Given the description of an element on the screen output the (x, y) to click on. 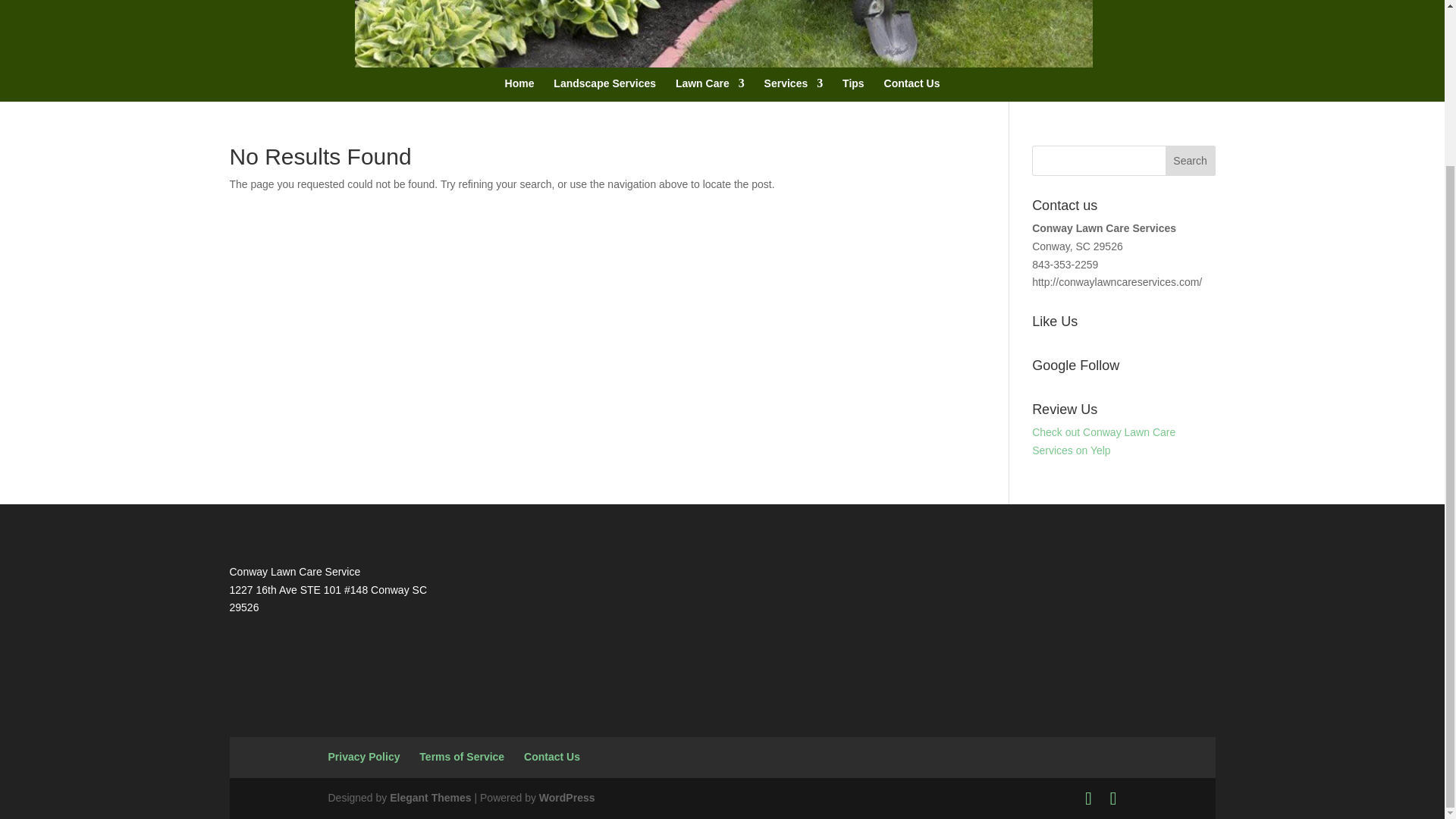
Privacy Policy (362, 756)
Landscape Services (604, 103)
Contact Us (911, 103)
Tips (853, 103)
WordPress (566, 797)
Elegant Themes (430, 797)
Home (519, 103)
Services (794, 103)
Lawn Care (709, 103)
Check out Conway Lawn Care Services on Yelp (1103, 440)
Contact Us (551, 756)
Search (1190, 160)
Premium WordPress Themes (430, 797)
Terms of Service (461, 756)
Search (1190, 160)
